Given the description of an element on the screen output the (x, y) to click on. 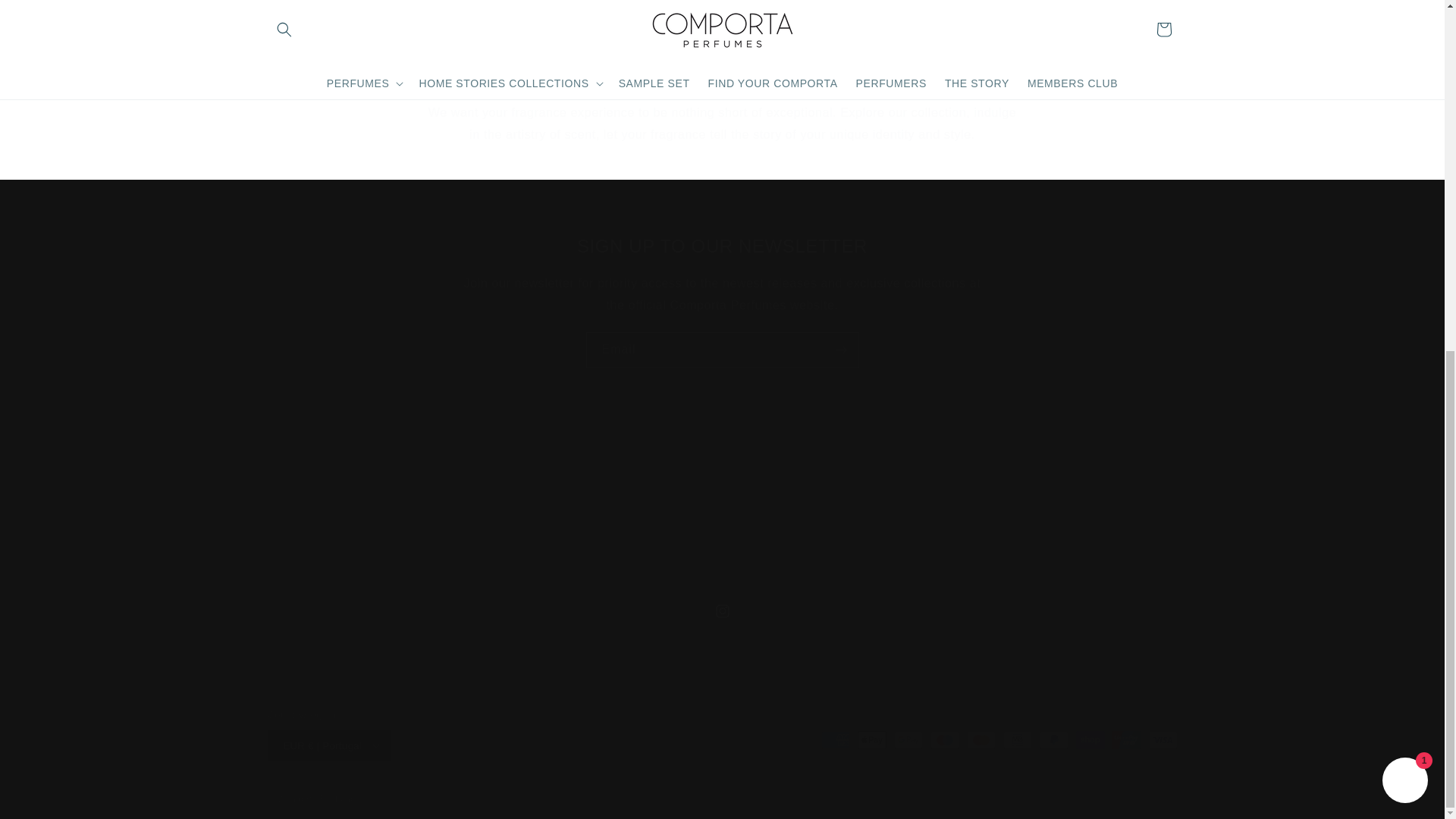
Shopify online store chat (1404, 173)
Email (722, 349)
Instagram (721, 611)
SIGN UP TO OUR NEWSLETTER (721, 245)
